Given the description of an element on the screen output the (x, y) to click on. 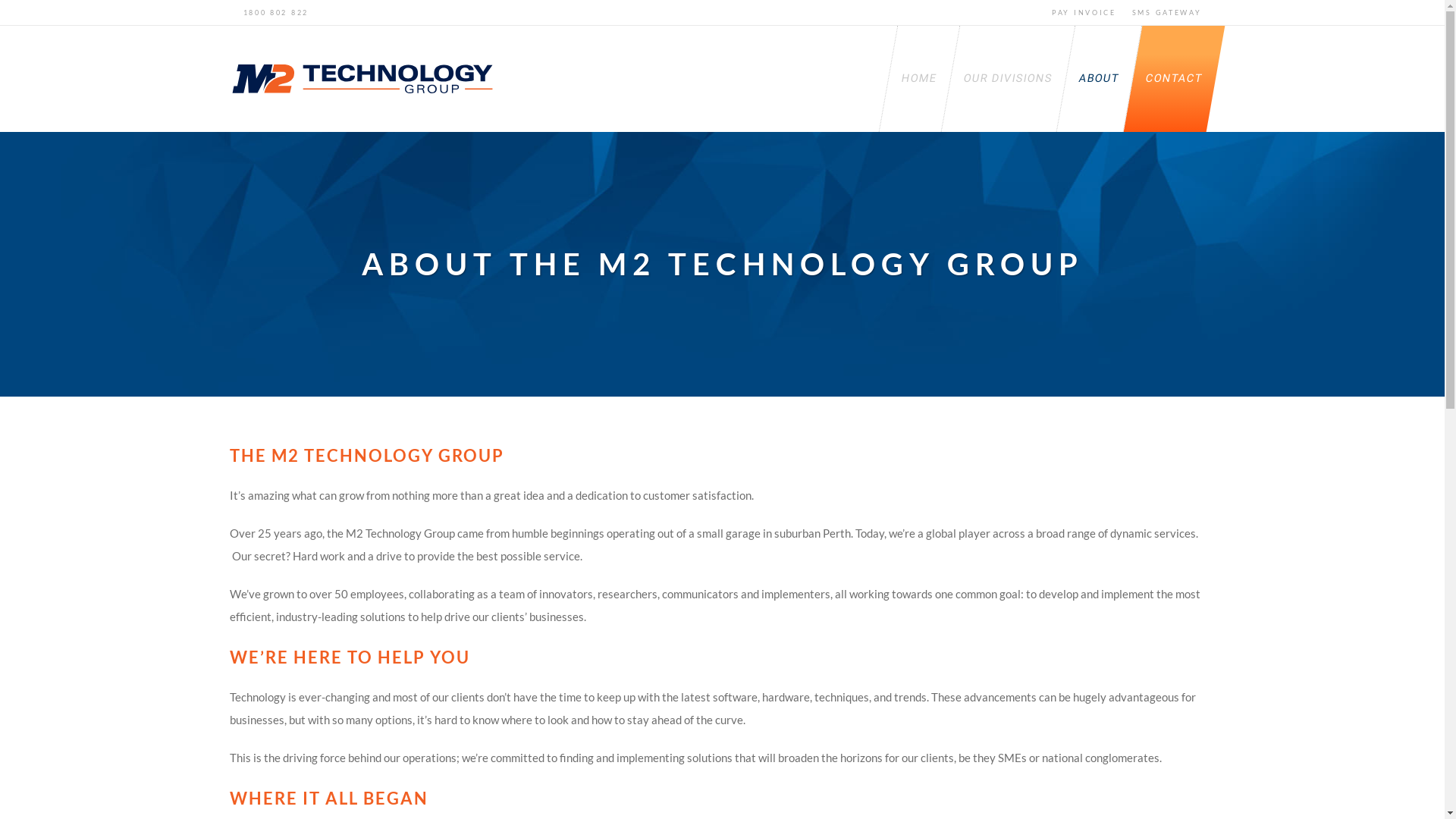
1800 802 822 Element type: text (268, 11)
PAY INVOICE Element type: text (1090, 11)
CONTACT Element type: text (1164, 78)
HOME Element type: text (909, 78)
SMS GATEWAY Element type: text (1173, 11)
OUR DIVISIONS Element type: text (998, 78)
ABOUT Element type: text (1089, 78)
